Given the description of an element on the screen output the (x, y) to click on. 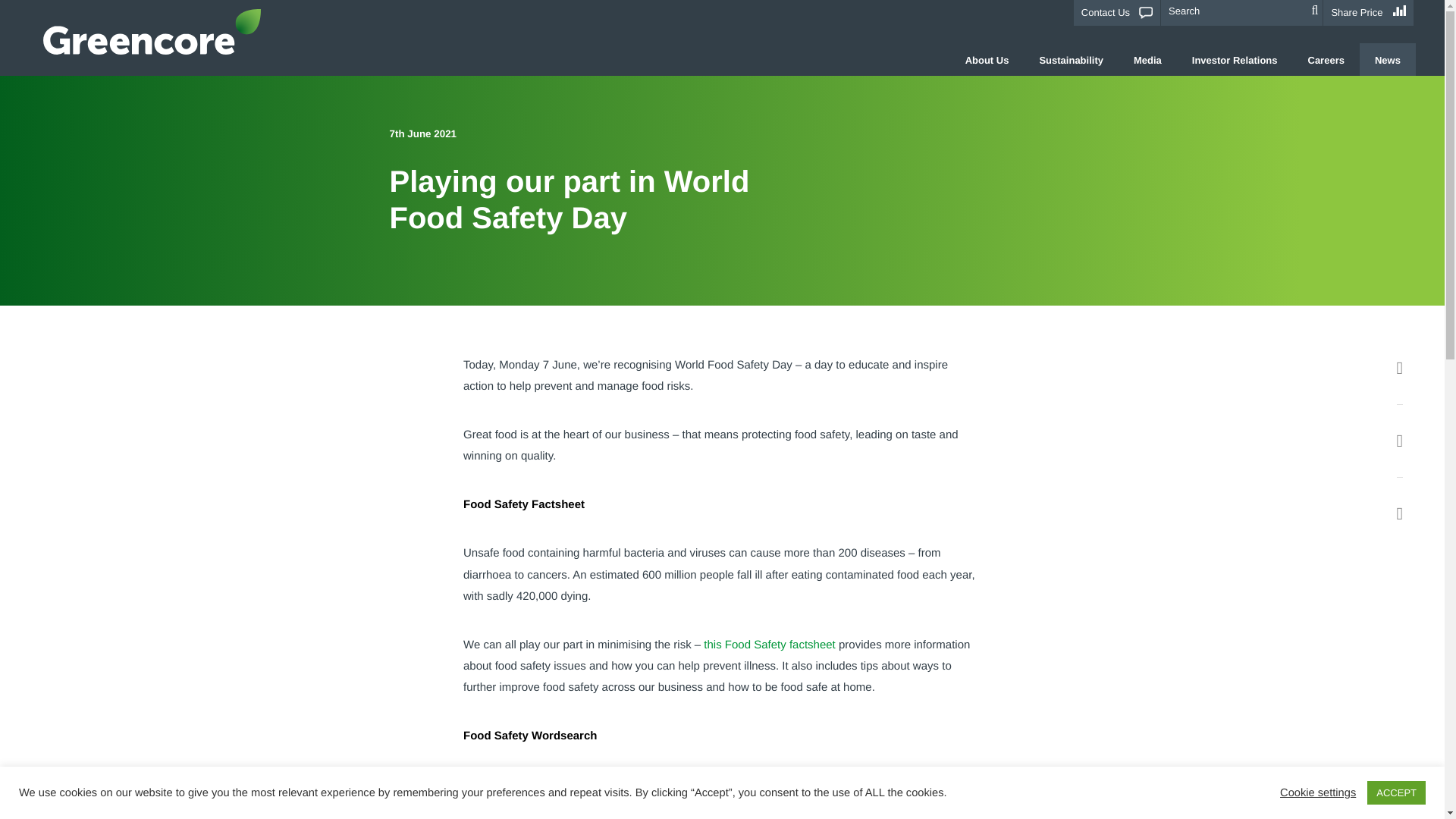
Media (1147, 59)
Contact Us (1116, 13)
About Us (987, 59)
Search (1315, 11)
Click to share this post on Twitter (1399, 440)
Return to Greencore homepage (152, 31)
Share Price (1367, 12)
Sustainability (1070, 59)
Investor Relations (1234, 59)
Greencore (152, 31)
Careers (1325, 59)
Click to share this post on Facebook (1399, 367)
